Given the description of an element on the screen output the (x, y) to click on. 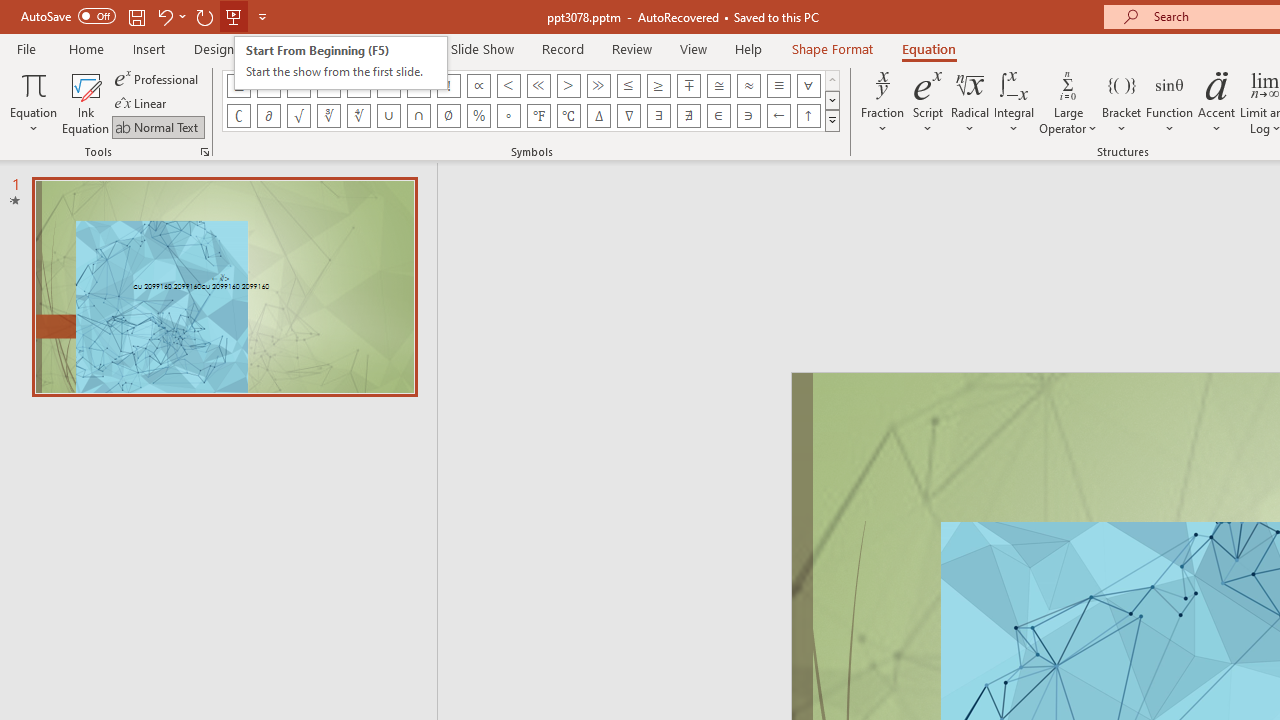
Equation Symbol Element Of (718, 115)
Equation Symbol Left Arrow (778, 115)
Equation Symbol Division Sign (418, 85)
Equation Symbol Nabla (628, 115)
Equation Symbol Factorial (448, 85)
Equation Symbol Complement (238, 115)
Equation Symbol Radical Sign (298, 115)
